Given the description of an element on the screen output the (x, y) to click on. 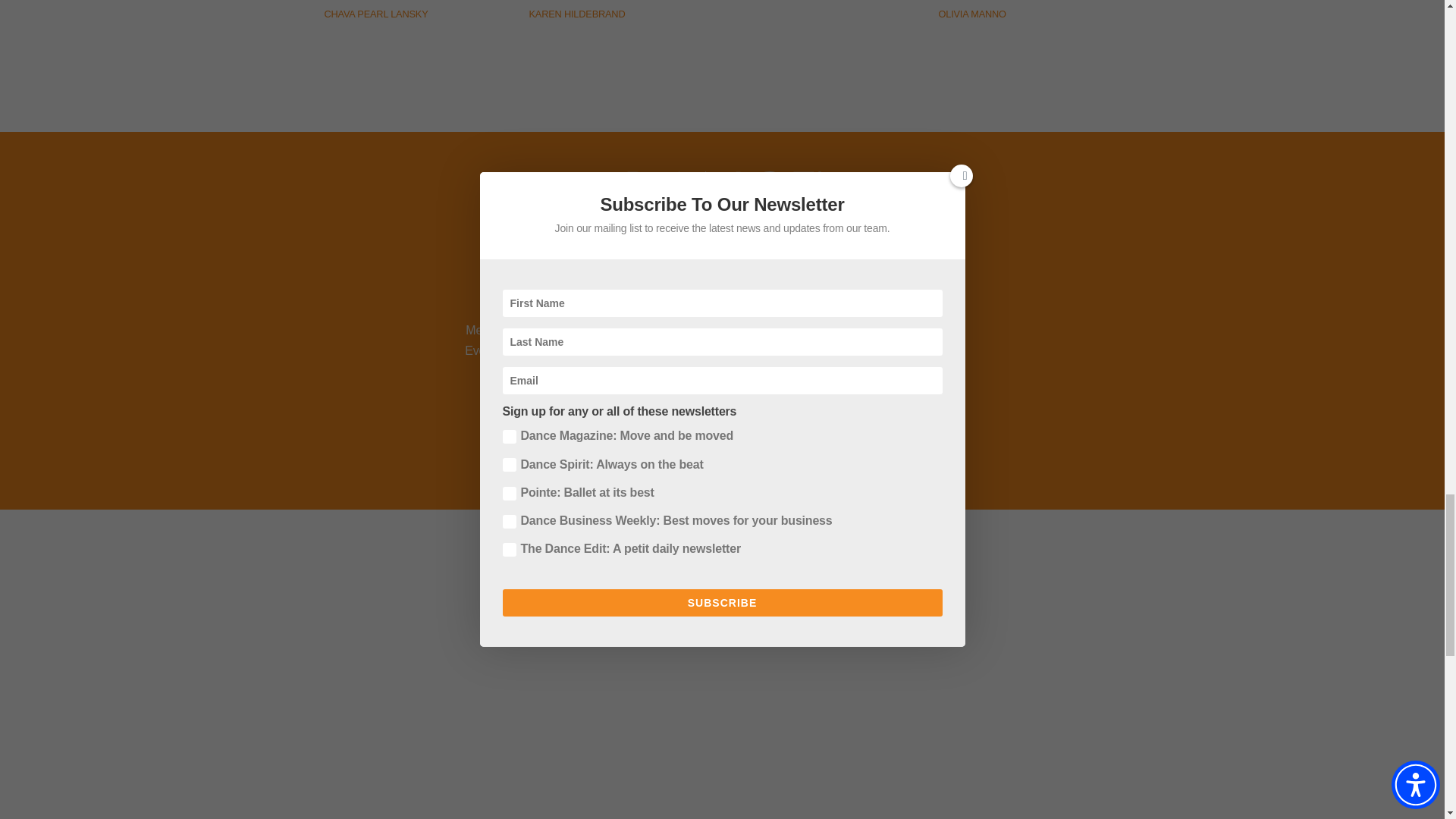
Follow on Facebook (623, 277)
Follow on Twitter (662, 277)
